Given the description of an element on the screen output the (x, y) to click on. 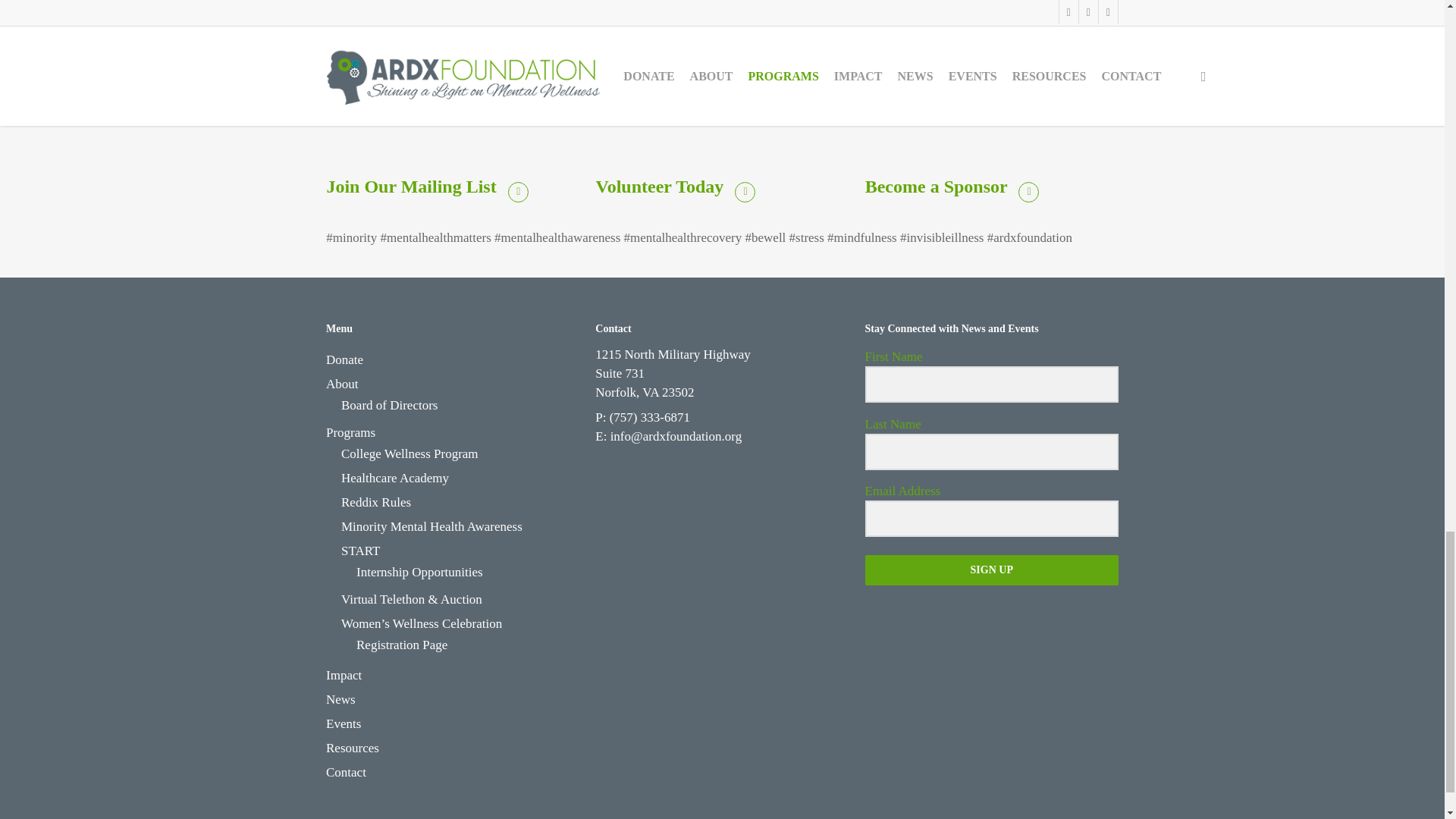
Programs (452, 433)
START (459, 551)
Reddix Rules (459, 502)
Donate (452, 360)
College Wellness Program (459, 454)
Healthcare Academy (459, 478)
About (452, 384)
ARDX Foundation Minority Mental Health Panel Discussion (722, 71)
Minority Mental Health Awareness (459, 526)
Board of Directors (459, 405)
